Given the description of an element on the screen output the (x, y) to click on. 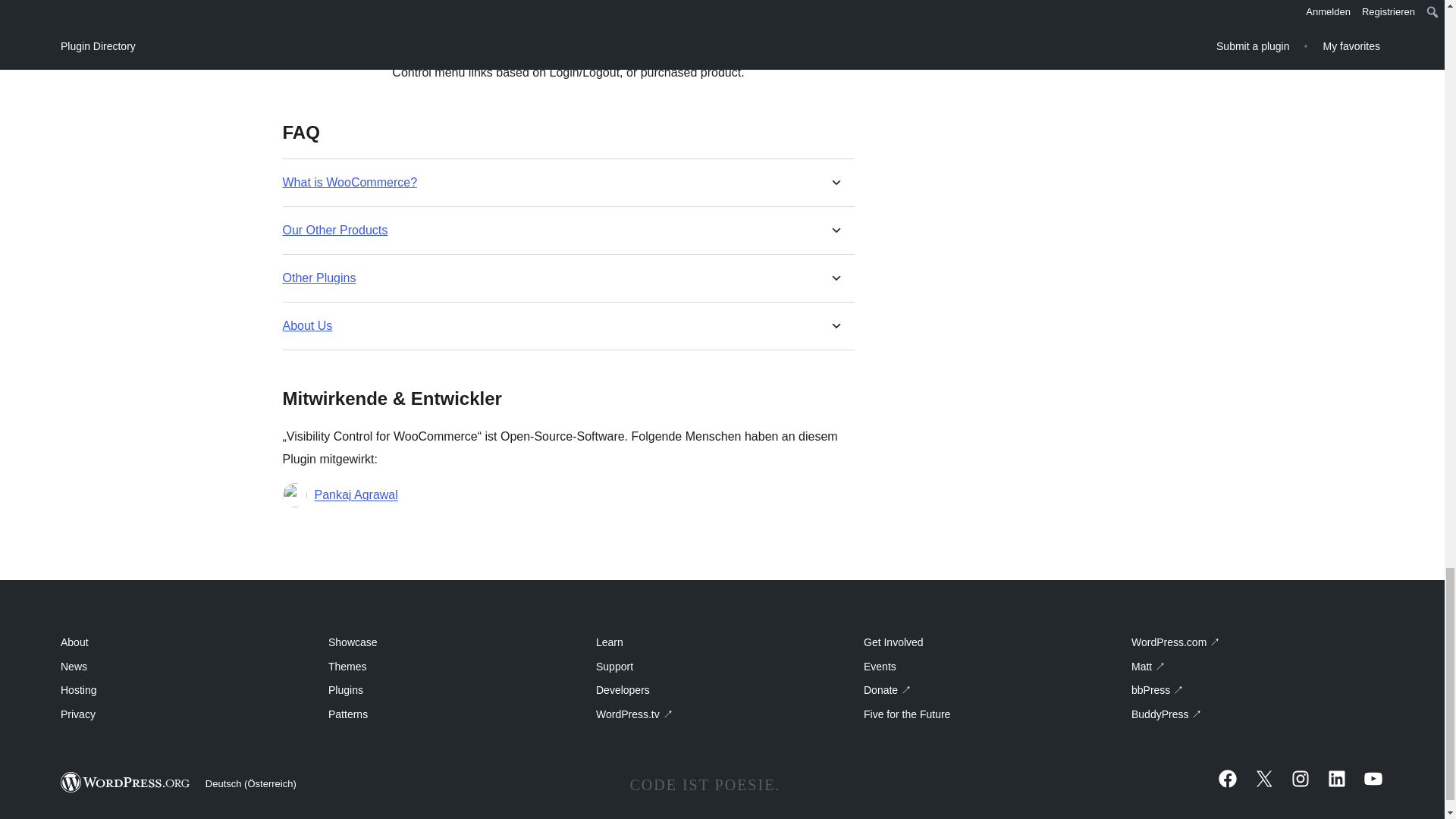
WordPress.org (125, 782)
